Given the description of an element on the screen output the (x, y) to click on. 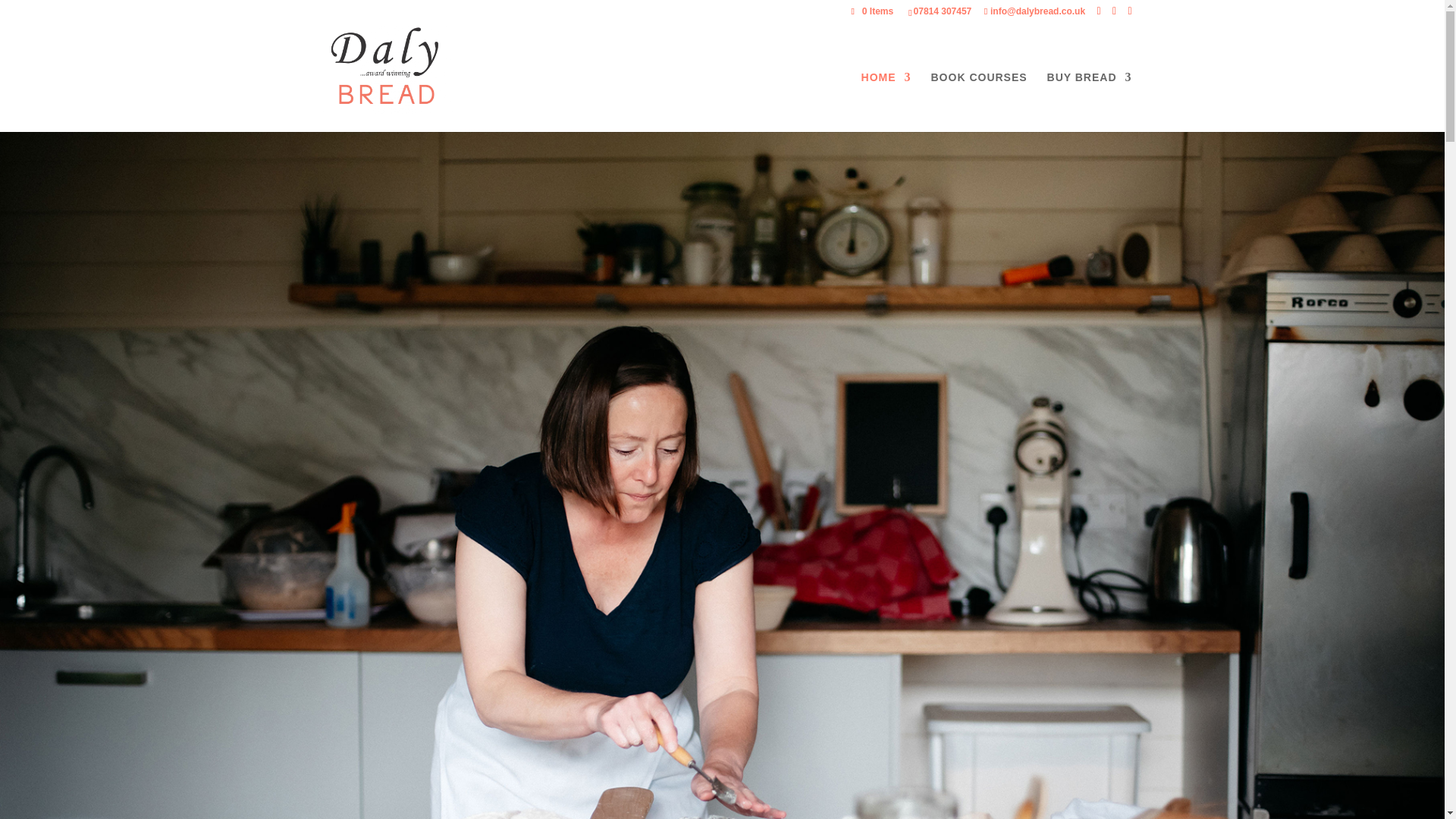
0 Items (871, 10)
BOOK COURSES (979, 101)
BUY BREAD (1089, 101)
